Given the description of an element on the screen output the (x, y) to click on. 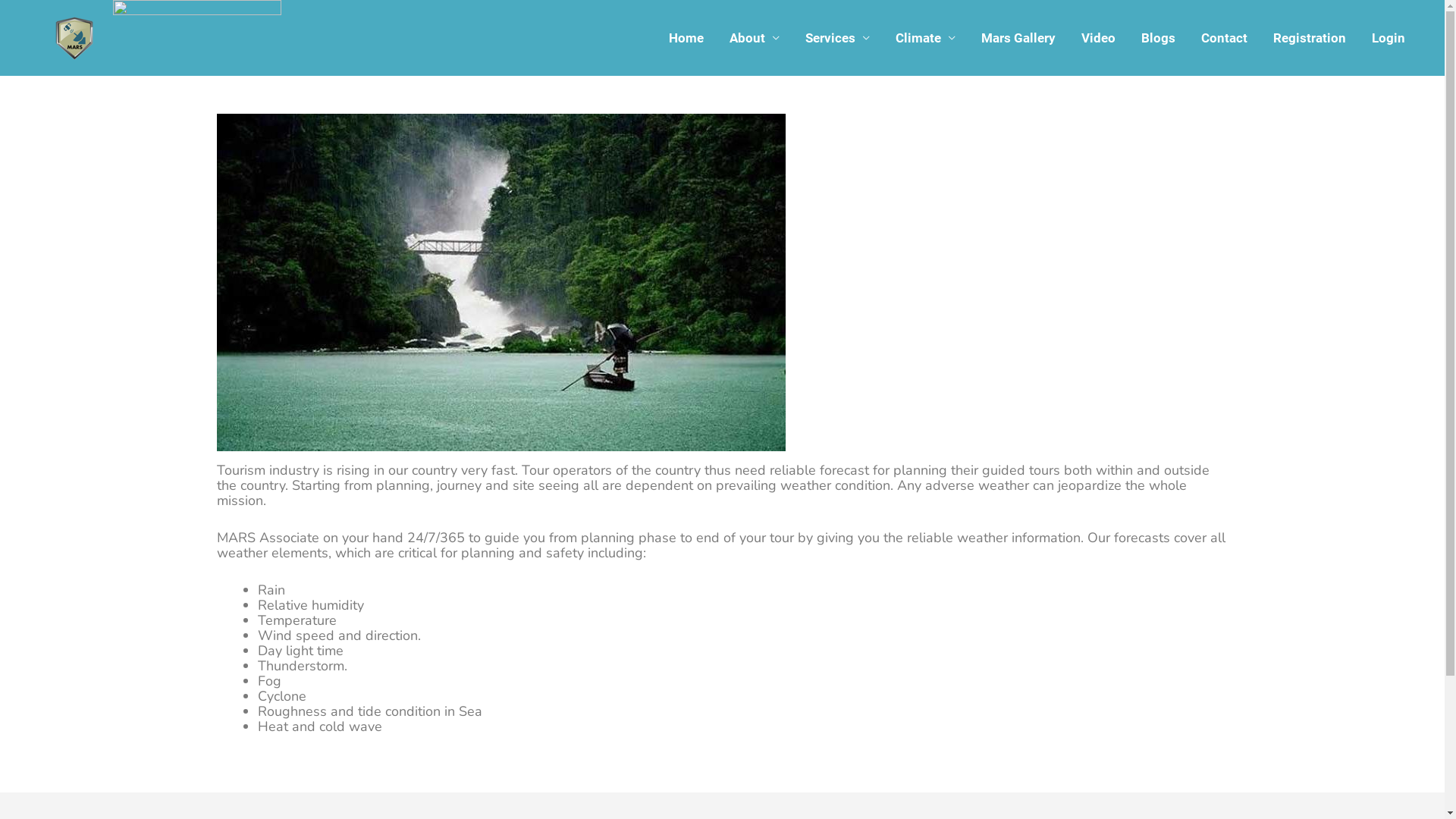
Contact Element type: text (1224, 37)
Blogs Element type: text (1158, 37)
Registration Element type: text (1309, 37)
Login Element type: text (1388, 37)
Climate Element type: text (925, 37)
Services Element type: text (837, 37)
About Element type: text (754, 37)
Video Element type: text (1098, 37)
Mars Gallery Element type: text (1018, 37)
Home Element type: text (685, 37)
